Given the description of an element on the screen output the (x, y) to click on. 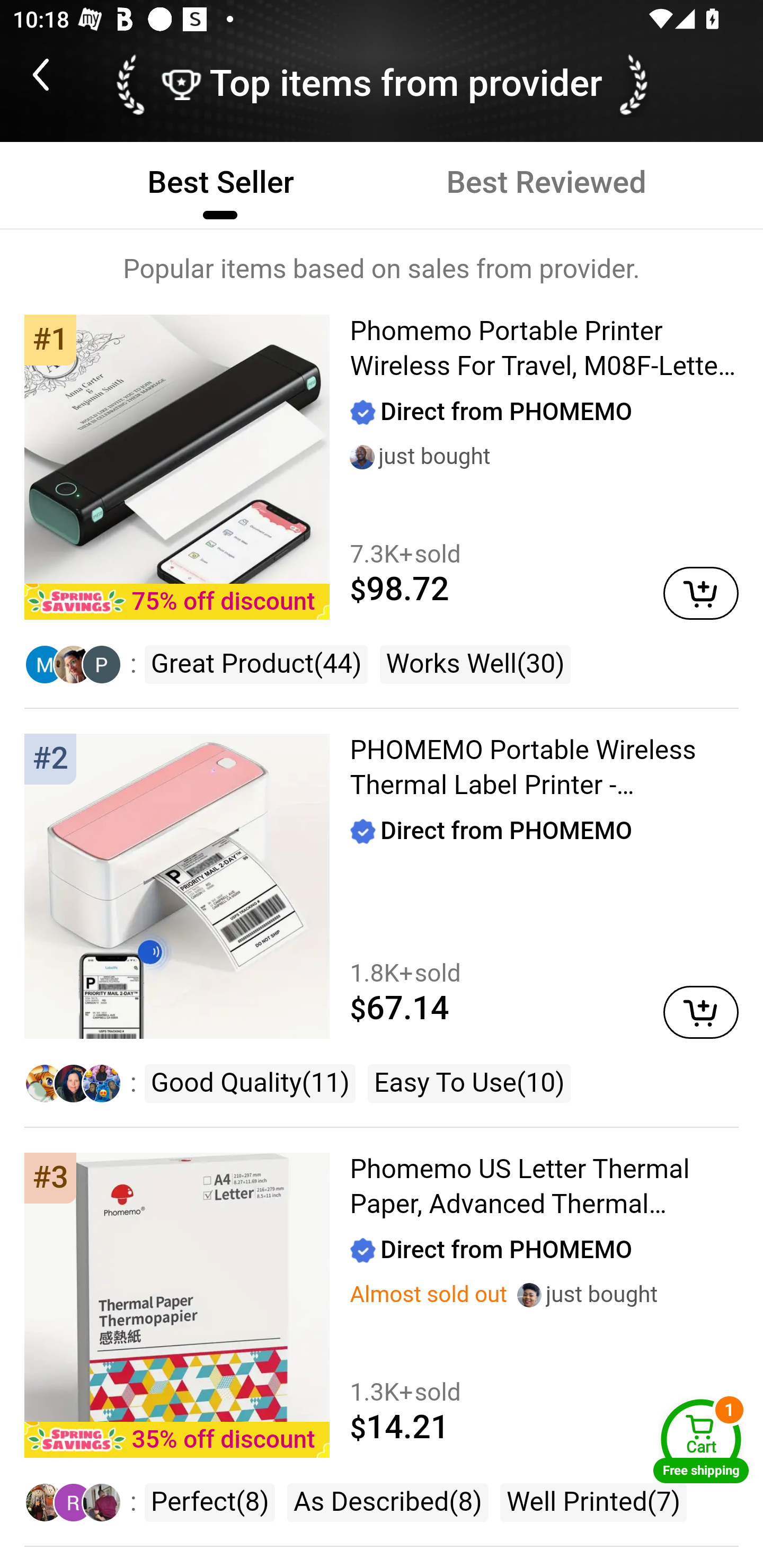
Best Seller (220, 183)
Best Reviewed (546, 183)
Cart Free shipping Cart (701, 1440)
